Given the description of an element on the screen output the (x, y) to click on. 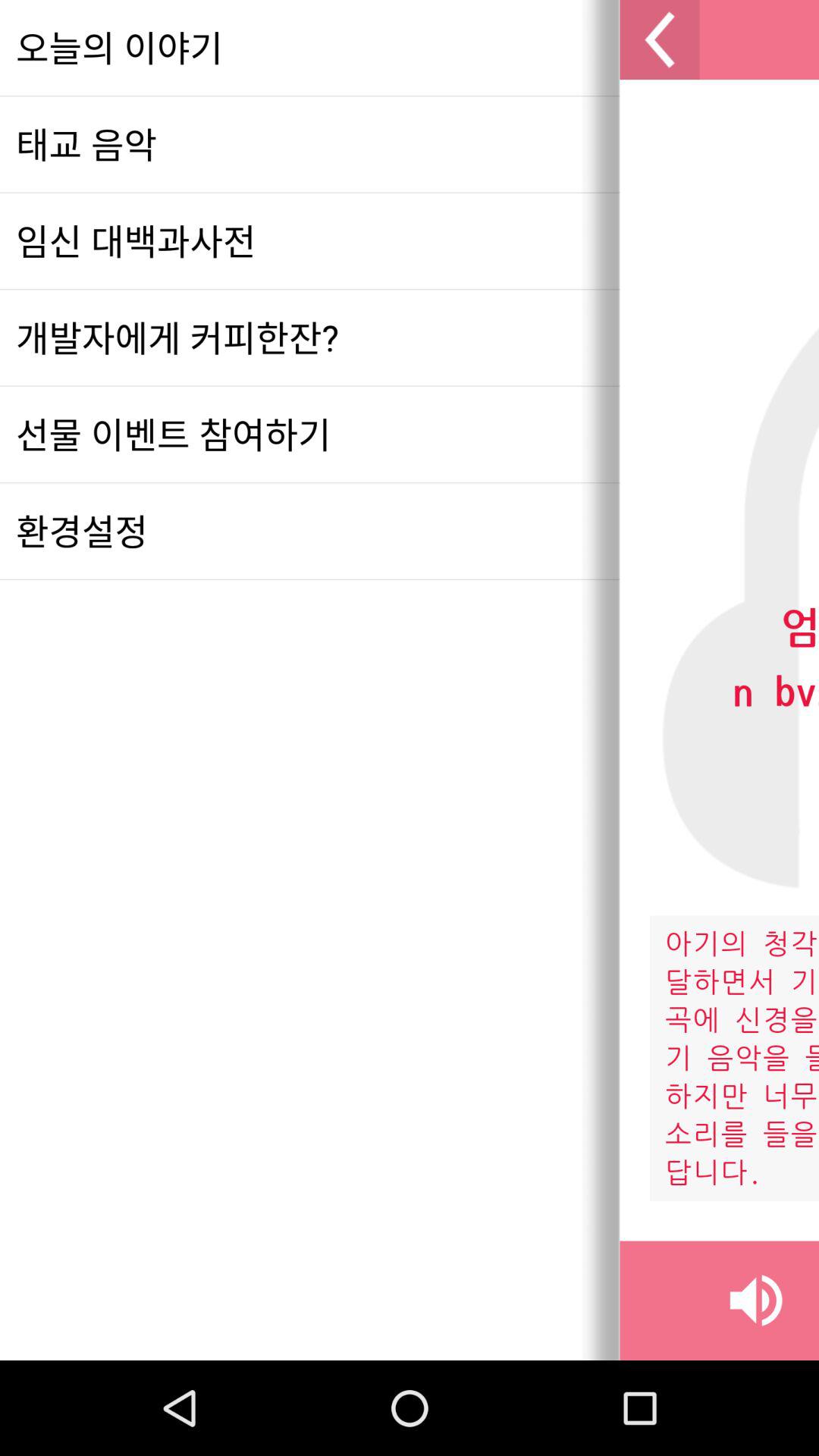
click icon at the center (409, 530)
